Given the description of an element on the screen output the (x, y) to click on. 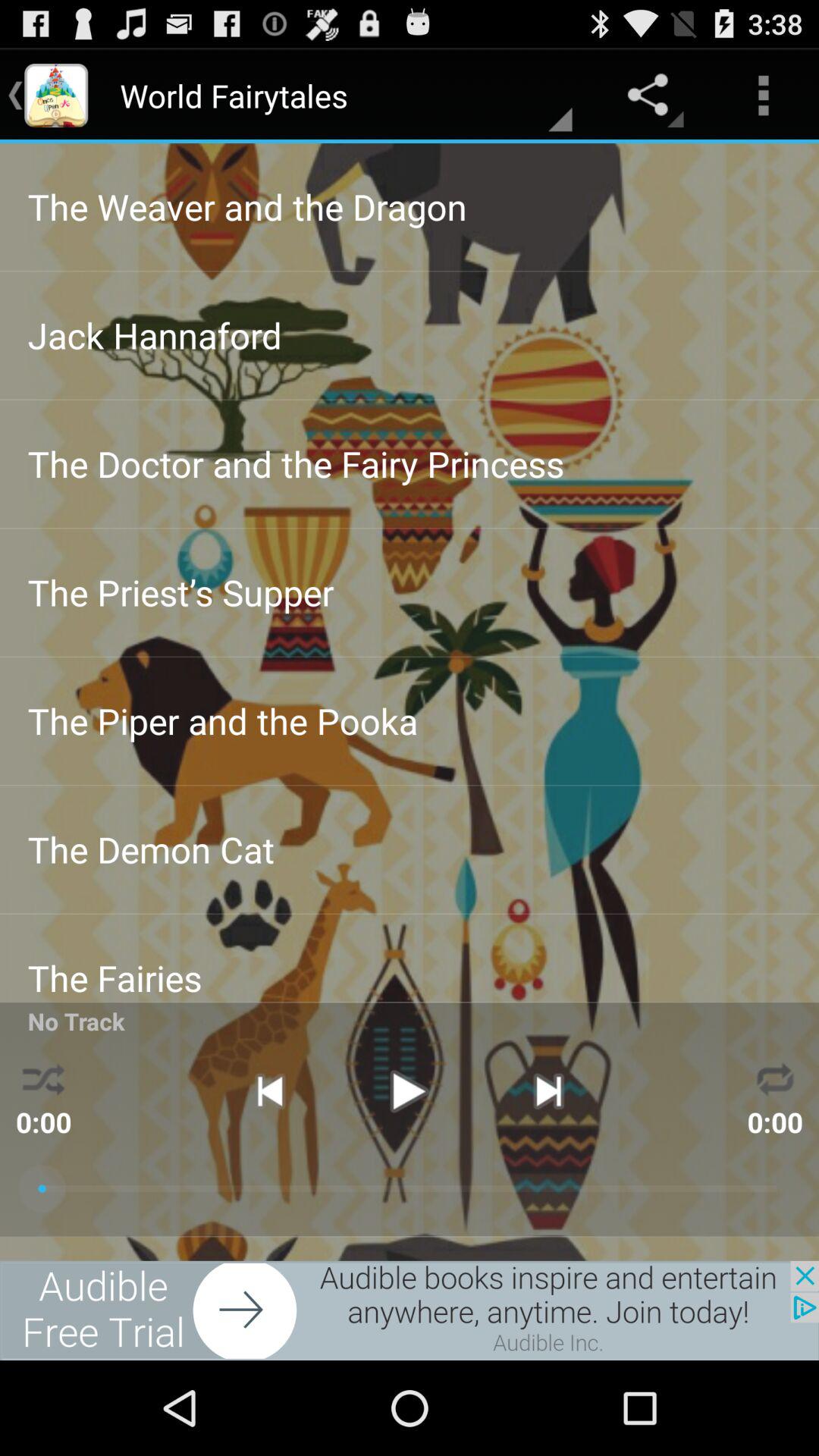
audible advertisement (409, 1310)
